Given the description of an element on the screen output the (x, y) to click on. 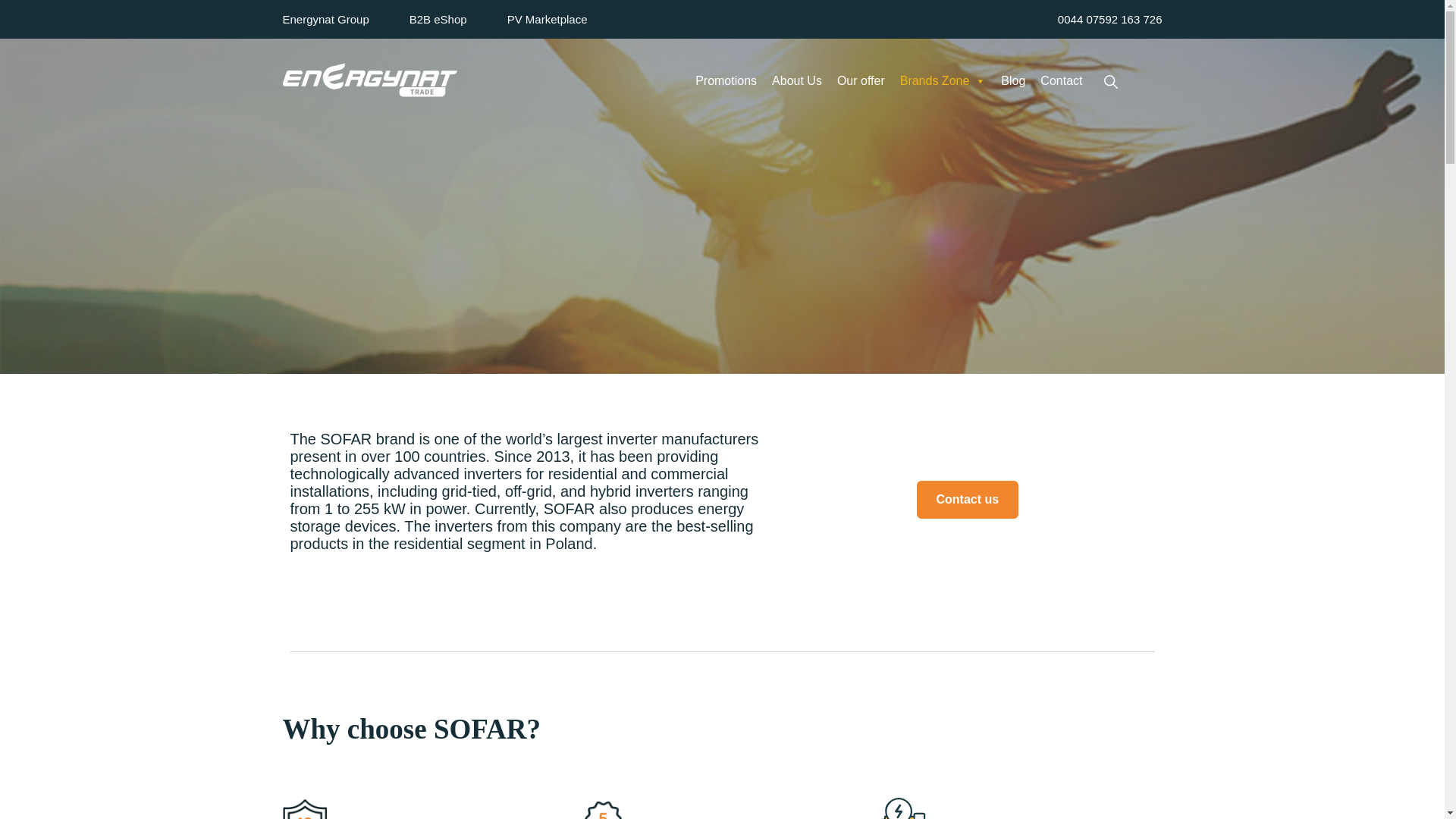
0044 07592 163 726 (1101, 19)
Search (1109, 81)
Contact us (968, 499)
Brands Zone (943, 80)
Promotions (725, 80)
Contact (1060, 80)
About Us (796, 80)
PV Marketplace (566, 19)
B2B eShop (457, 19)
Blog (1012, 80)
Our offer (860, 80)
Energynat Group (345, 19)
